Given the description of an element on the screen output the (x, y) to click on. 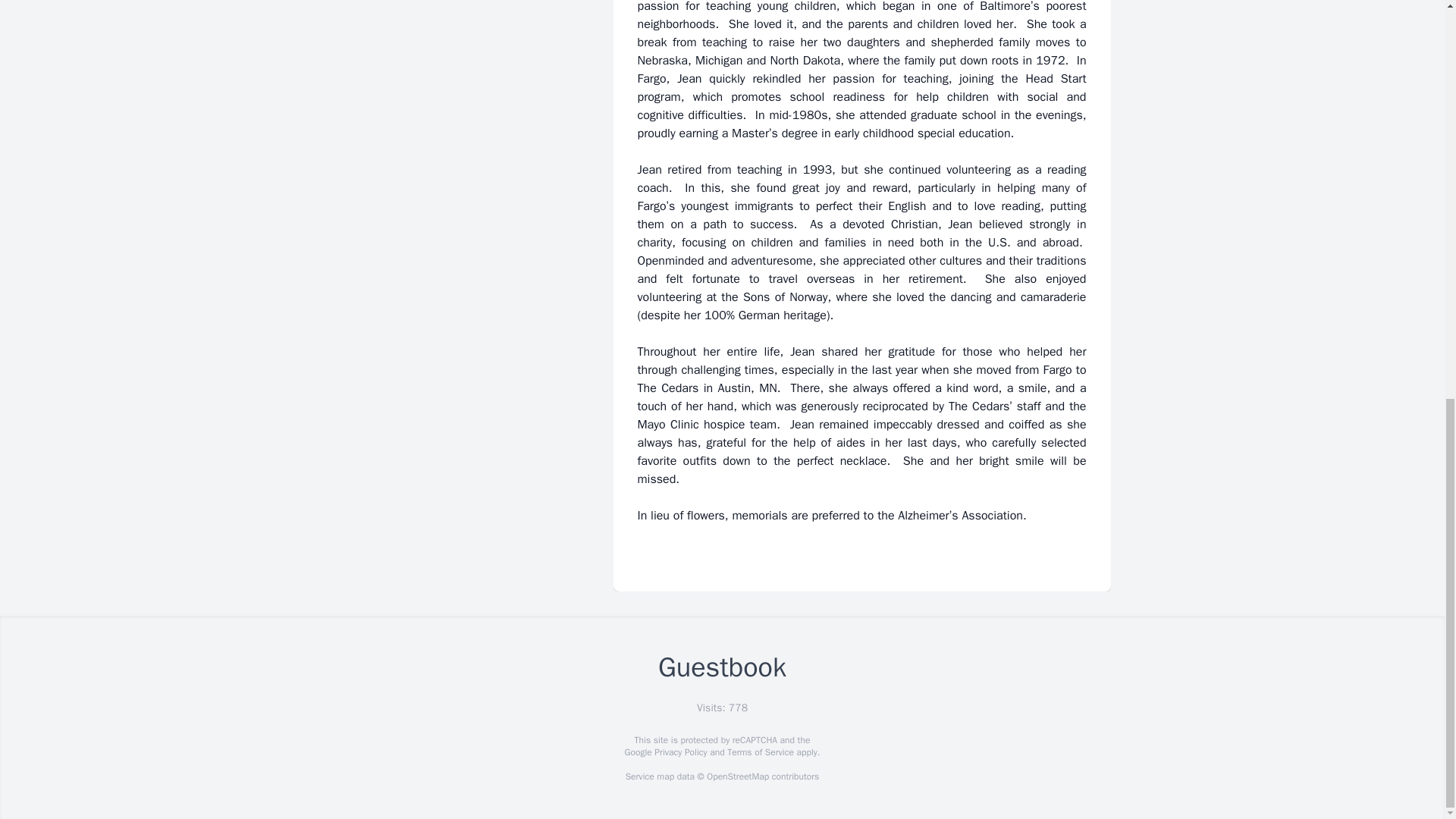
Privacy Policy (679, 752)
OpenStreetMap (737, 776)
Terms of Service (759, 752)
